Given the description of an element on the screen output the (x, y) to click on. 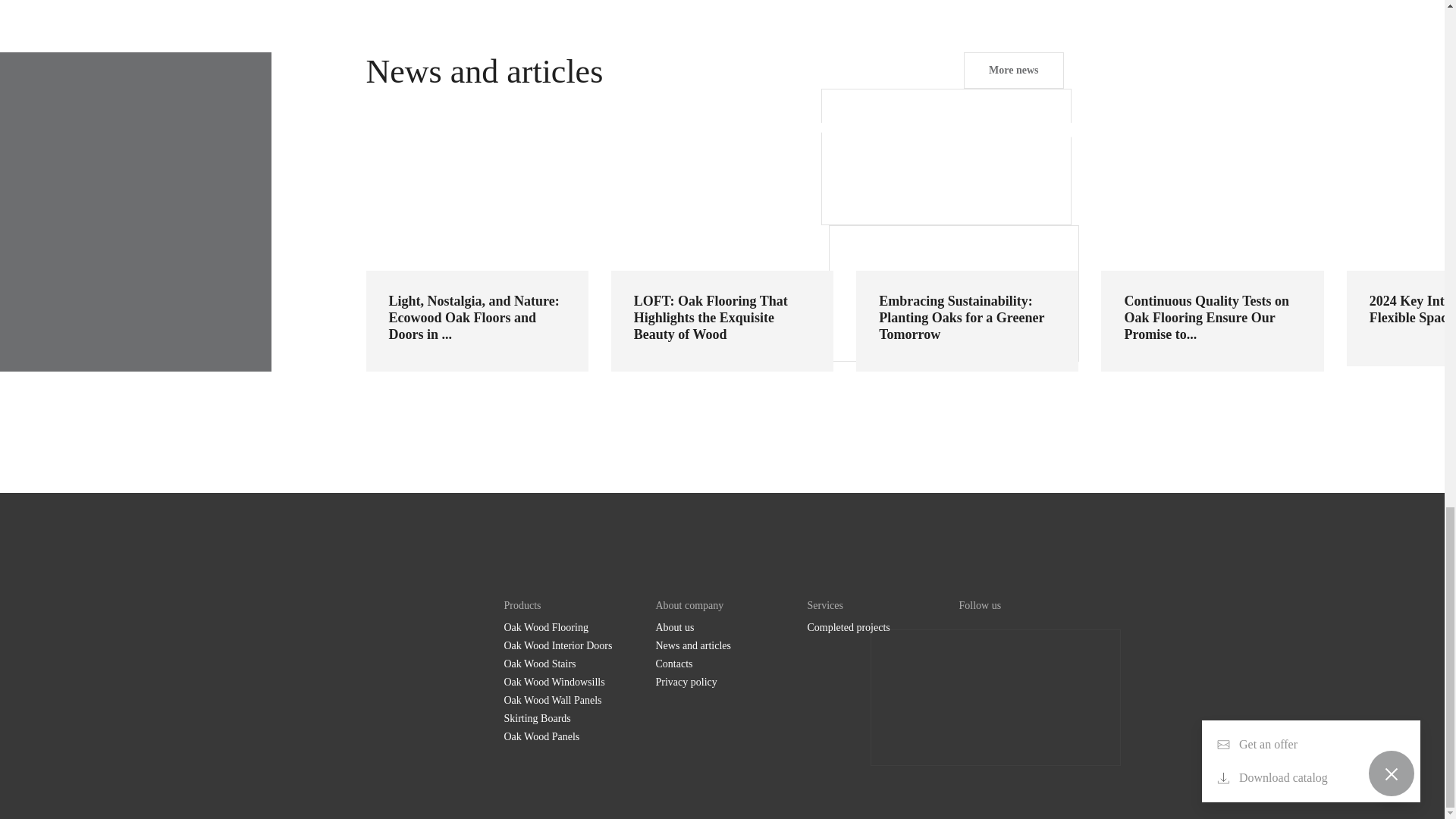
More news (1012, 70)
